Given the description of an element on the screen output the (x, y) to click on. 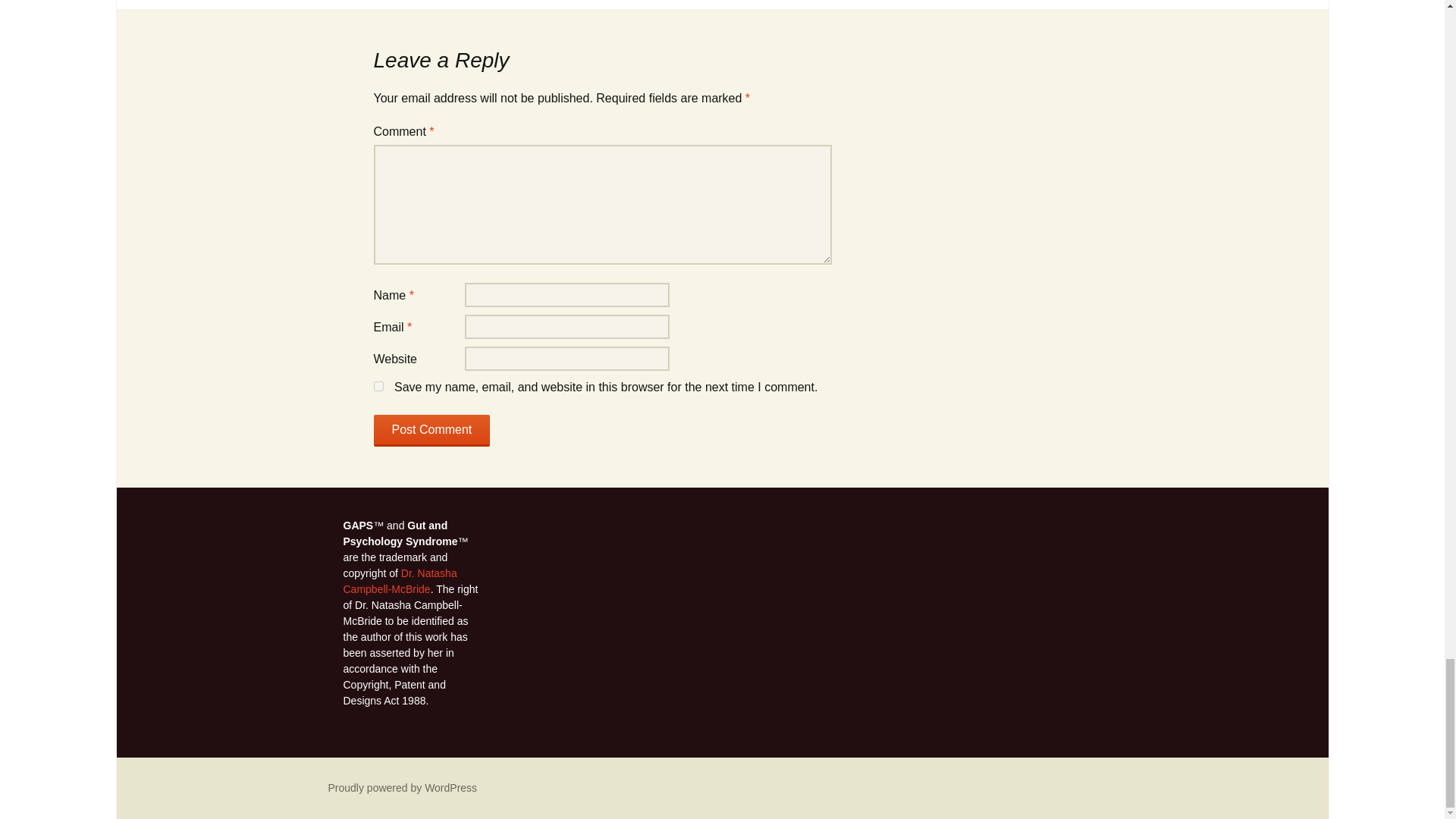
Post Comment (430, 430)
Post Comment (430, 430)
yes (377, 386)
